Given the description of an element on the screen output the (x, y) to click on. 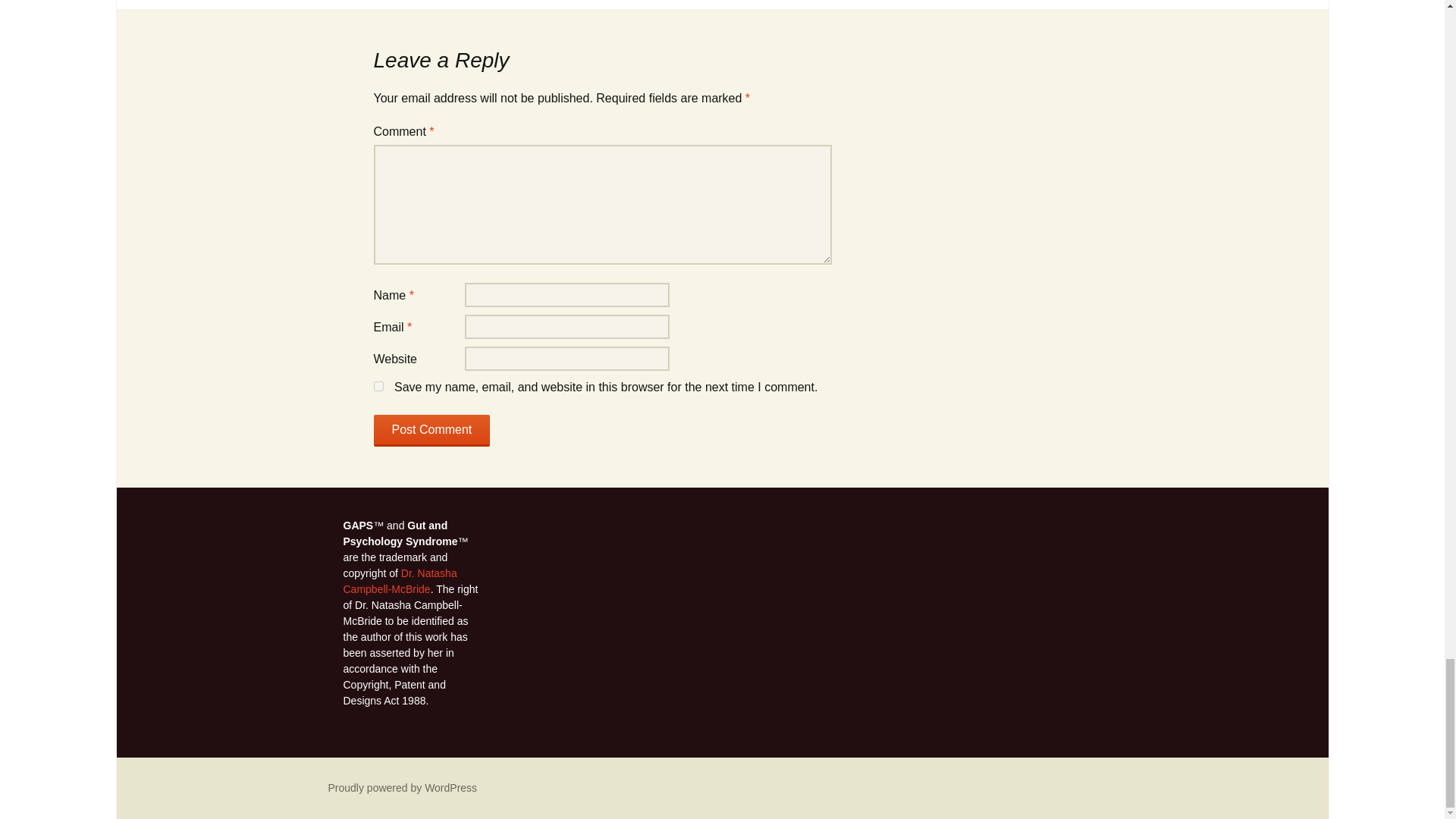
Post Comment (430, 430)
Post Comment (430, 430)
yes (377, 386)
